Given the description of an element on the screen output the (x, y) to click on. 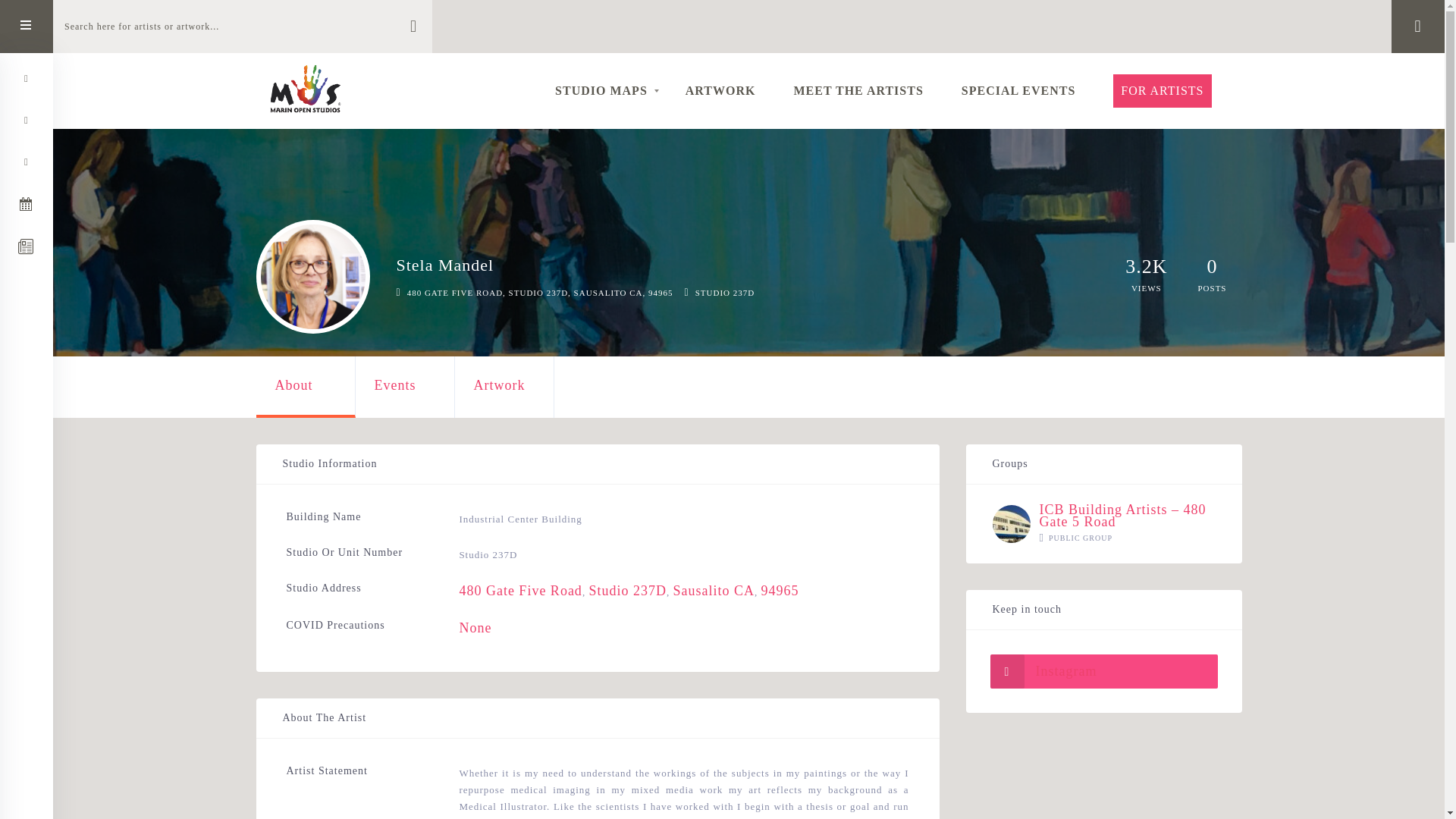
Studio 237D (627, 590)
Sausalito CA (713, 590)
Events (403, 385)
0 (1210, 266)
Artwork (503, 385)
3245 (1146, 266)
SPECIAL EVENTS (1018, 90)
480 Gate Five Road (519, 590)
None (475, 627)
MEET THE ARTISTS (858, 90)
Instagram (1103, 671)
STUDIO MAPS (599, 90)
ARTWORK (720, 90)
94965 (778, 590)
